Given the description of an element on the screen output the (x, y) to click on. 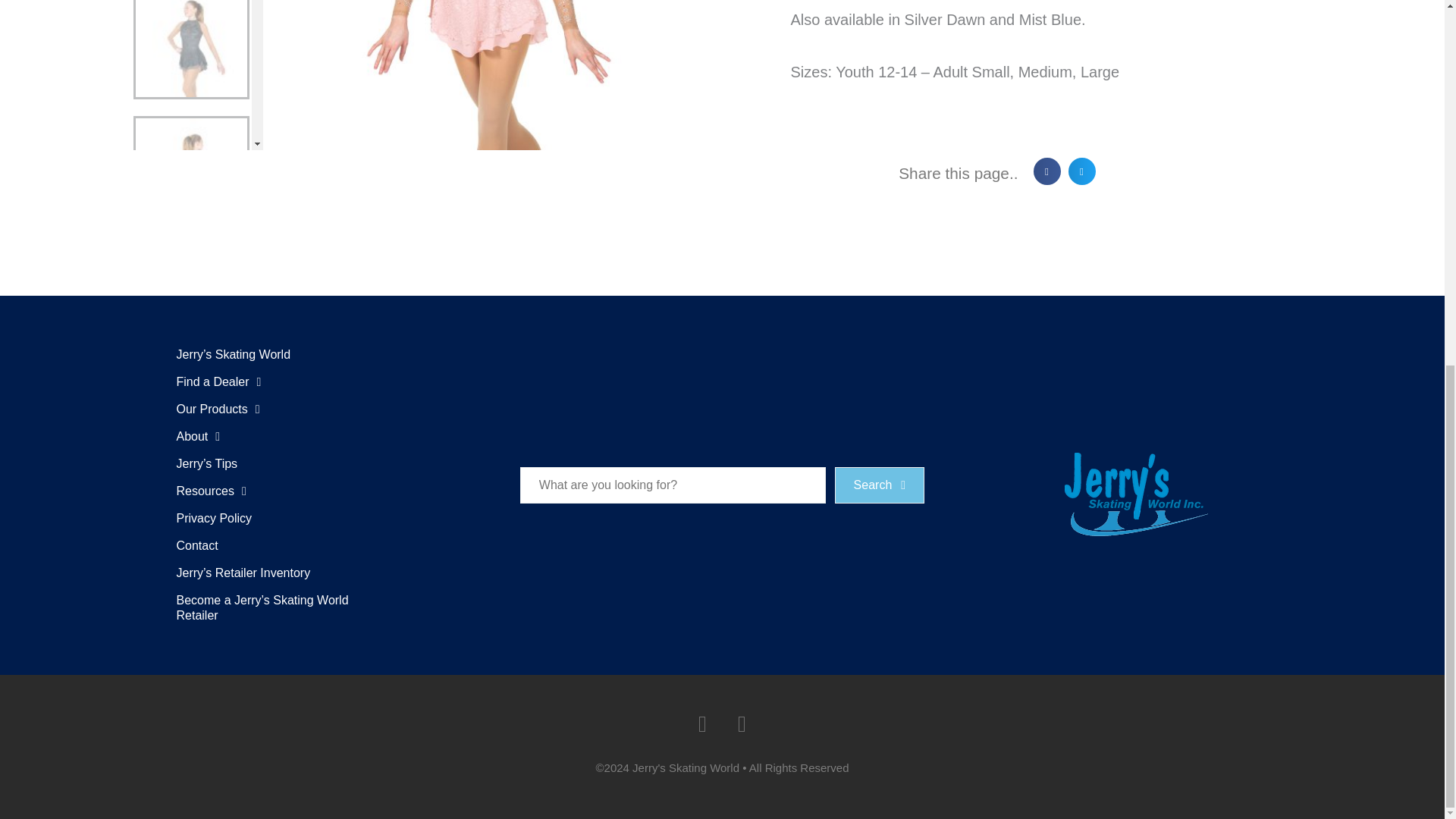
Search (672, 484)
18FirstBlushFront (490, 74)
